Given the description of an element on the screen output the (x, y) to click on. 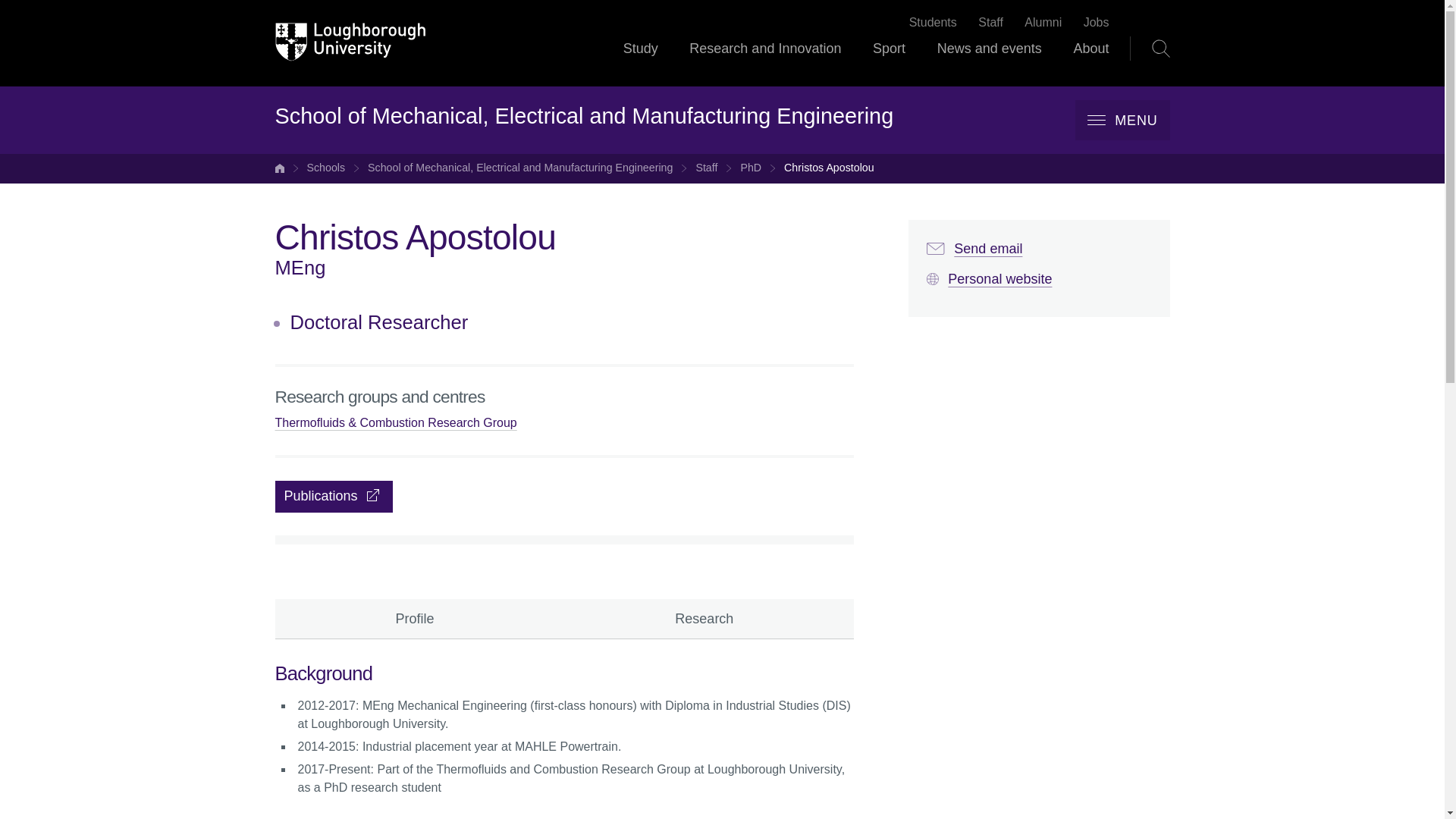
Schools (325, 168)
News and events (989, 61)
MENU (1122, 119)
About (1090, 61)
Staff (706, 168)
PhD (750, 168)
Loughborough University (350, 41)
Personal website (988, 278)
Christos Apostolou (829, 168)
Sport (888, 61)
Toggle global search (1160, 48)
Alumni (1043, 22)
Staff (990, 22)
Study (640, 61)
Jobs (1096, 22)
